Given the description of an element on the screen output the (x, y) to click on. 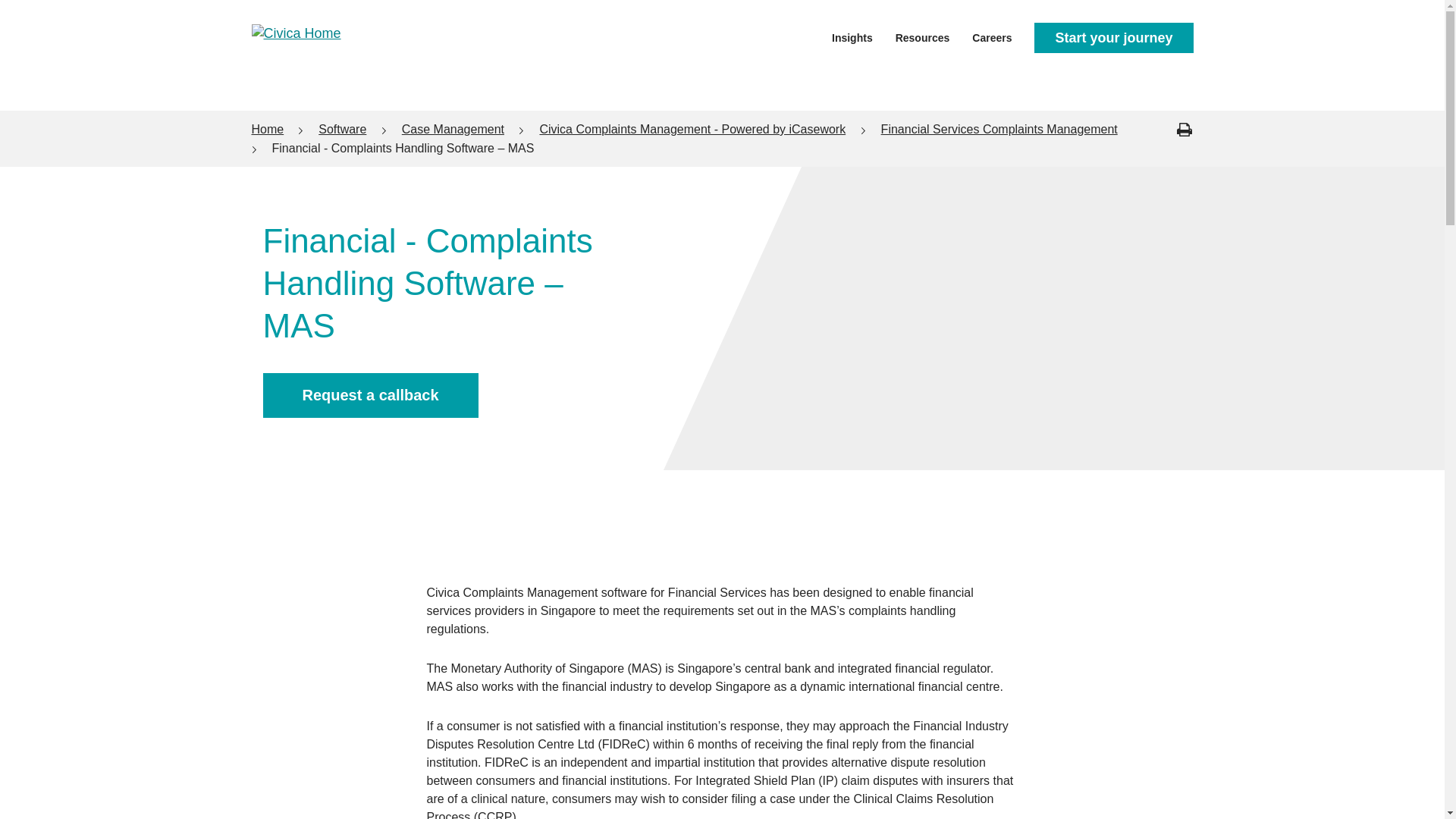
Resources (922, 37)
Insights (851, 37)
Case Management (452, 128)
Software (342, 128)
Careers (991, 37)
Start your journey (1112, 37)
Home (267, 128)
